Given the description of an element on the screen output the (x, y) to click on. 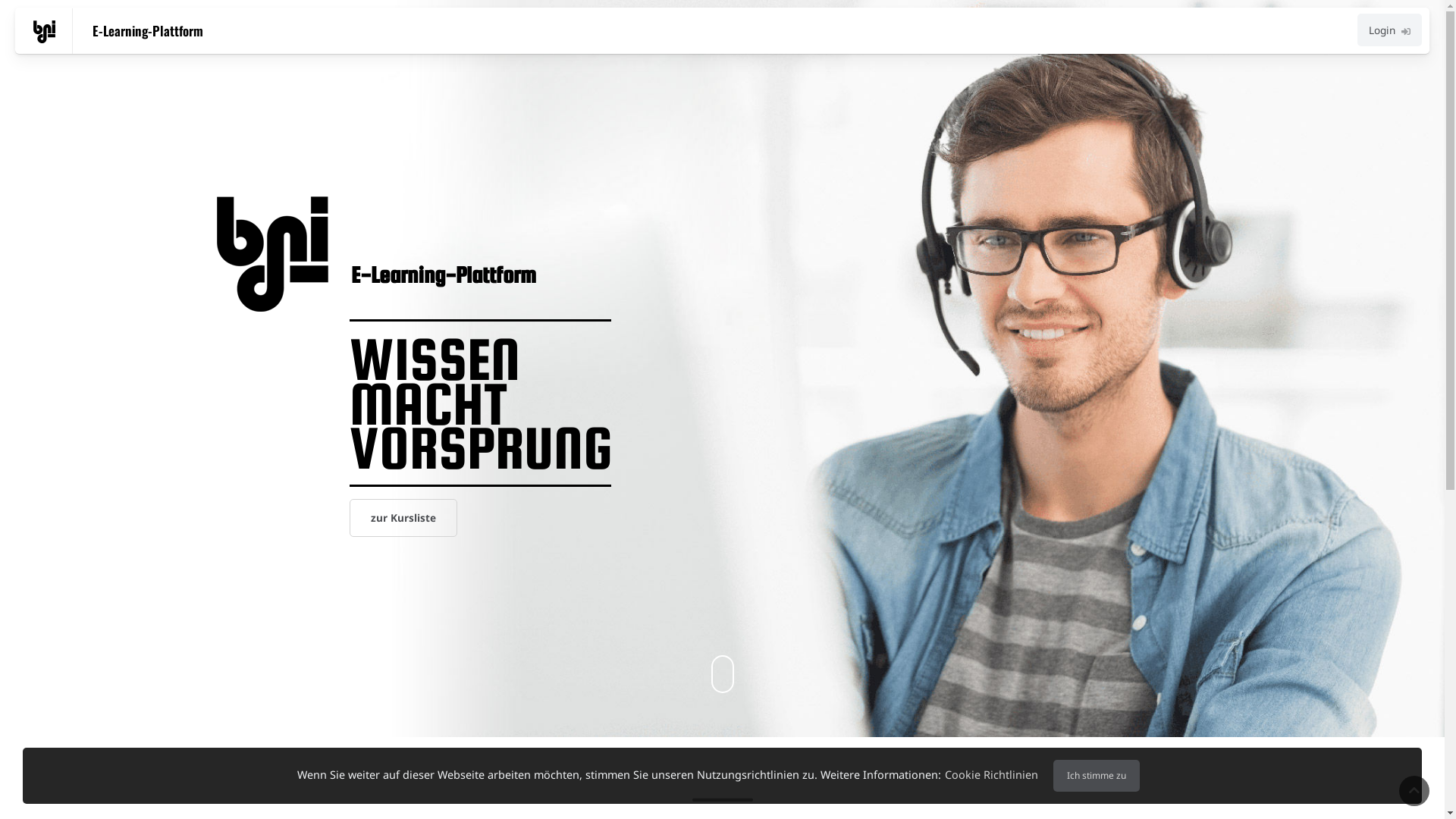
Login Element type: text (1389, 29)
Ich stimme zu Element type: text (1096, 775)
Cookie Richtlinien Element type: text (991, 774)
BDNI E-Learning Element type: hover (44, 31)
zur Kursliste Element type: text (403, 517)
